Given the description of an element on the screen output the (x, y) to click on. 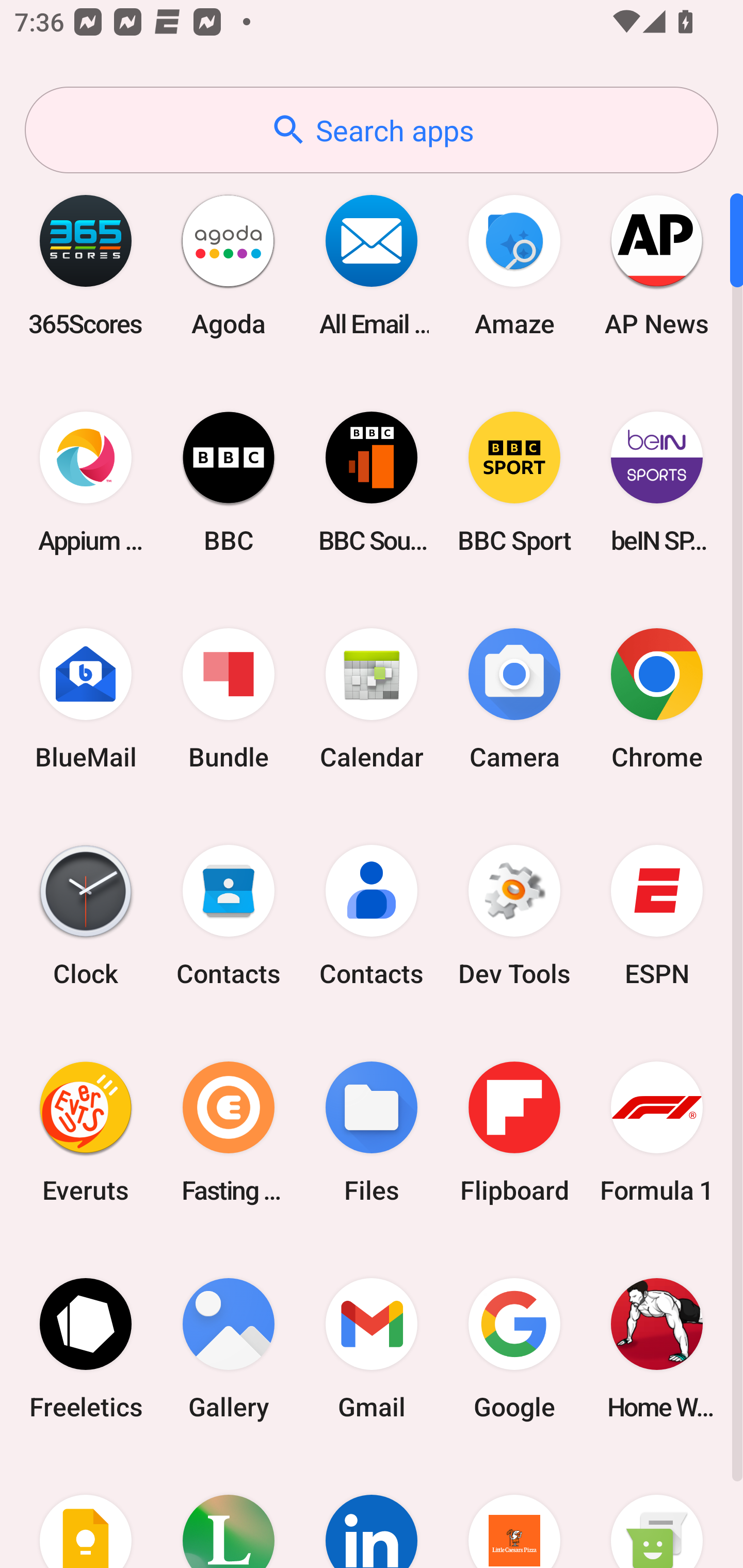
  Search apps (371, 130)
365Scores (85, 264)
Agoda (228, 264)
All Email Connect (371, 264)
Amaze (514, 264)
AP News (656, 264)
Appium Settings (85, 482)
BBC (228, 482)
BBC Sounds (371, 482)
BBC Sport (514, 482)
beIN SPORTS (656, 482)
BlueMail (85, 699)
Bundle (228, 699)
Calendar (371, 699)
Camera (514, 699)
Chrome (656, 699)
Clock (85, 915)
Contacts (228, 915)
Contacts (371, 915)
Dev Tools (514, 915)
ESPN (656, 915)
Everuts (85, 1131)
Fasting Coach (228, 1131)
Files (371, 1131)
Flipboard (514, 1131)
Formula 1 (656, 1131)
Freeletics (85, 1348)
Gallery (228, 1348)
Gmail (371, 1348)
Google (514, 1348)
Home Workout (656, 1348)
Keep Notes (85, 1512)
Lifesum (228, 1512)
LinkedIn (371, 1512)
Little Caesars Pizza (514, 1512)
Messaging (656, 1512)
